Given the description of an element on the screen output the (x, y) to click on. 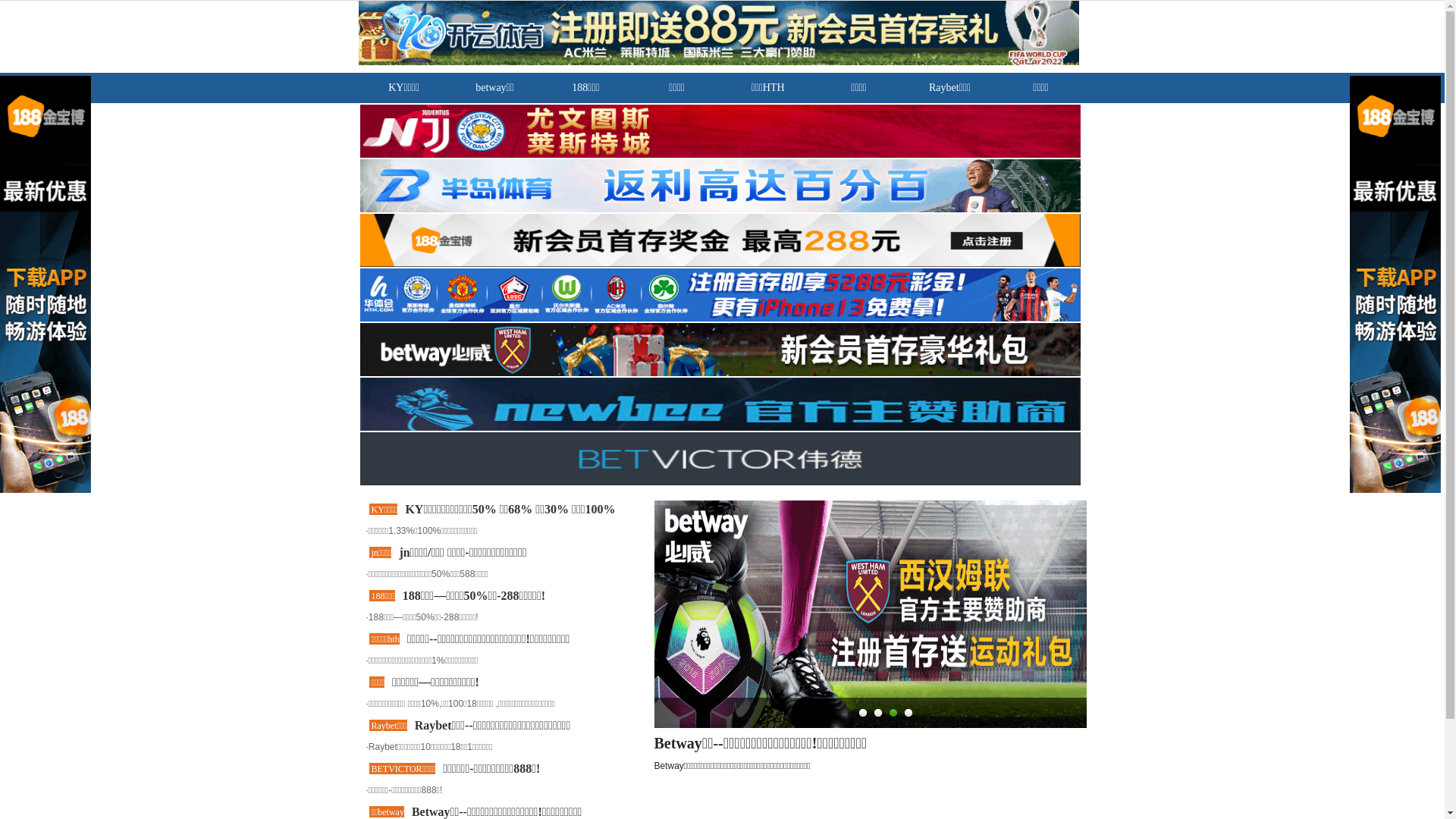
kokodayo Element type: text (60, 514)
kok880 Element type: text (54, 623)
kok88 Element type: text (51, 500)
